Given the description of an element on the screen output the (x, y) to click on. 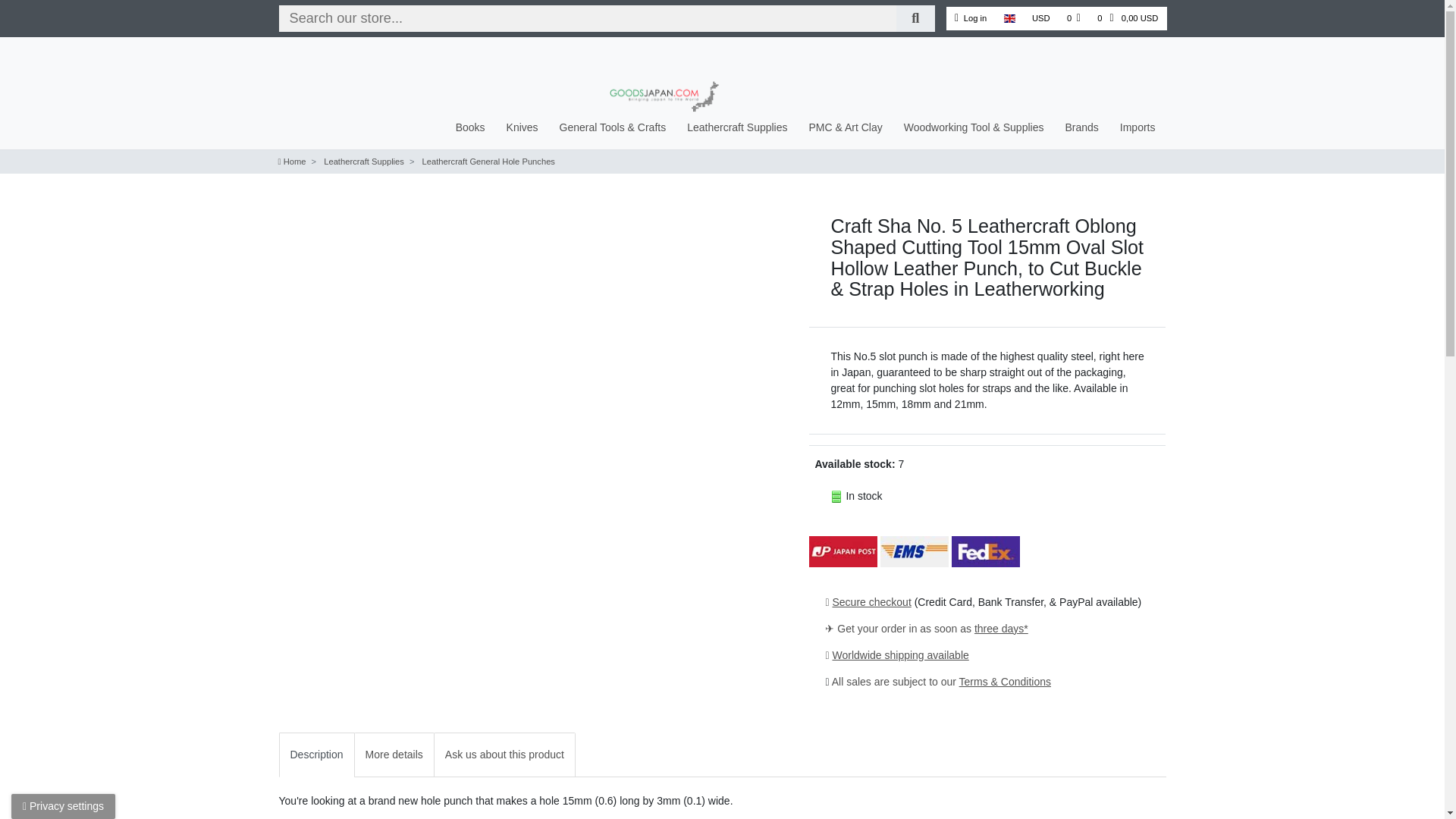
Log in (970, 18)
Japan Post (843, 554)
0 0,00 USD (1127, 18)
Books (470, 127)
USD (1040, 18)
FedEx (986, 554)
Leathercraft Supplies (737, 127)
EMS (914, 554)
0 (1073, 18)
Knives (522, 127)
